Given the description of an element on the screen output the (x, y) to click on. 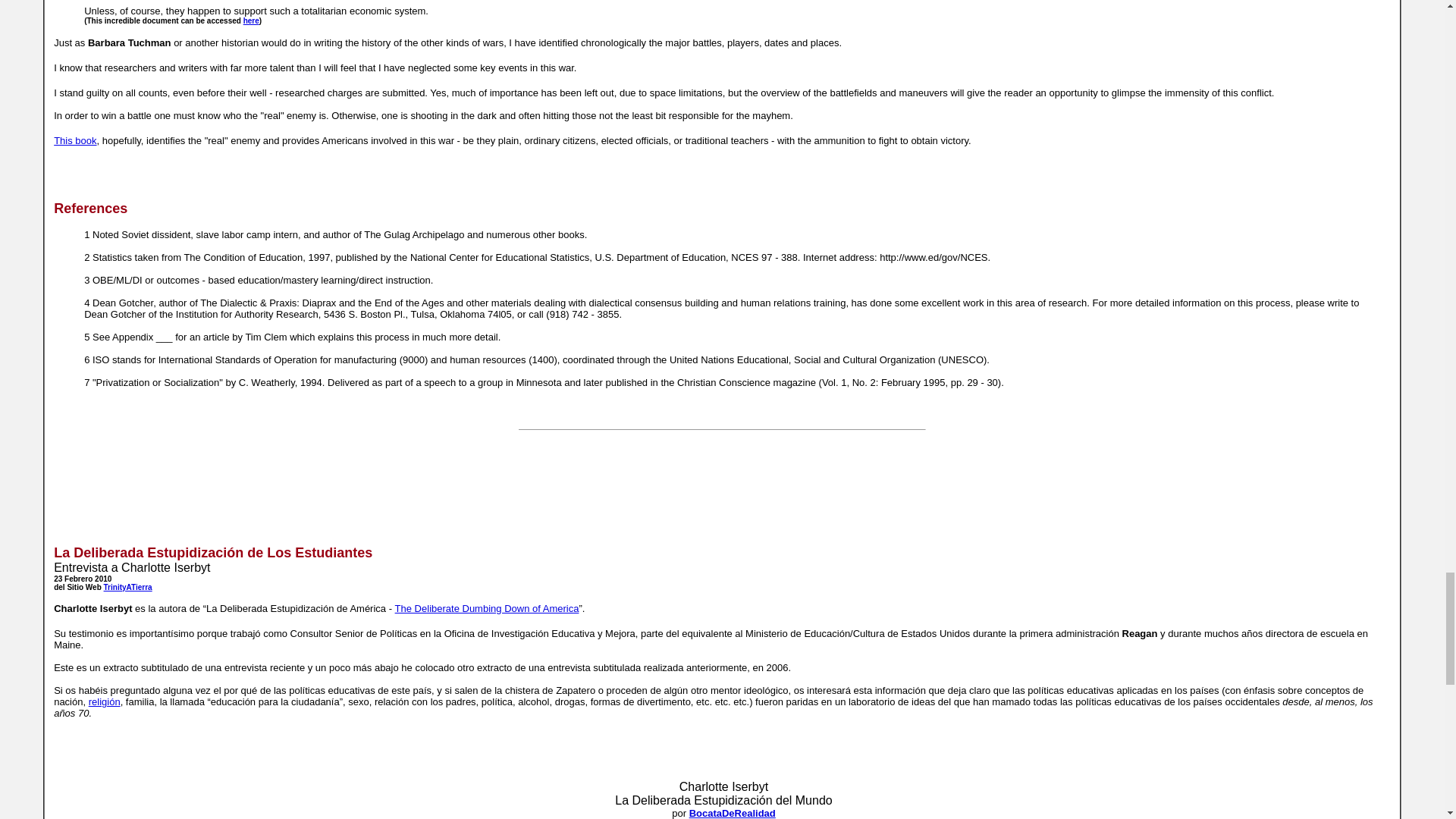
Entrevista a Charlotte Iserbyt (131, 567)
Charlotte Iserbyt (723, 786)
This book (74, 140)
The Deliberate Dumbing Down of America (486, 608)
here (251, 20)
TrinityATierra (127, 587)
BocataDeRealidad (732, 813)
